Given the description of an element on the screen output the (x, y) to click on. 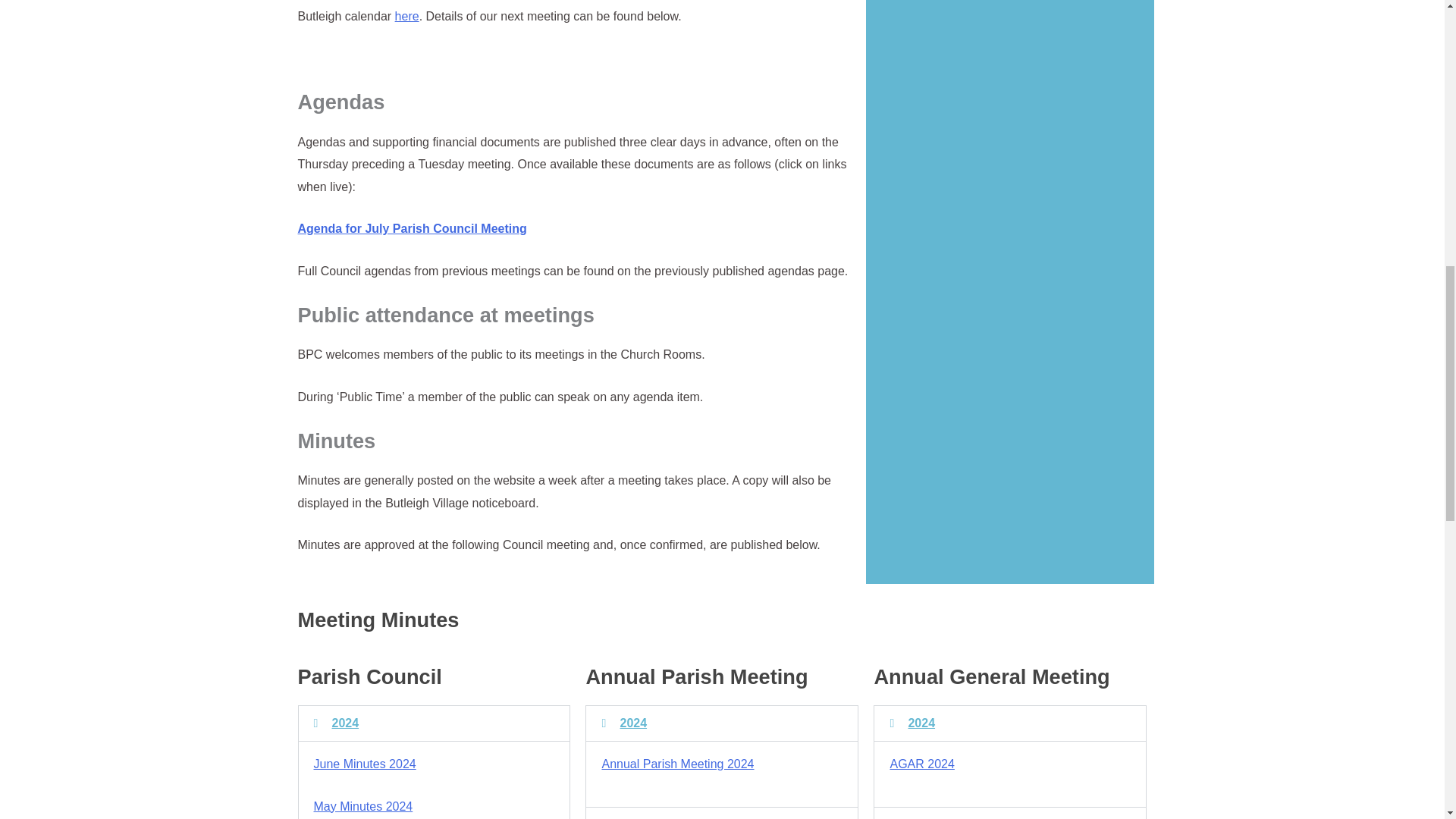
May Minutes 2024 (363, 806)
Agenda for July Parish Council Meeting (411, 228)
June Minutes 2024 (365, 763)
here (406, 15)
2024 (345, 722)
